Given the description of an element on the screen output the (x, y) to click on. 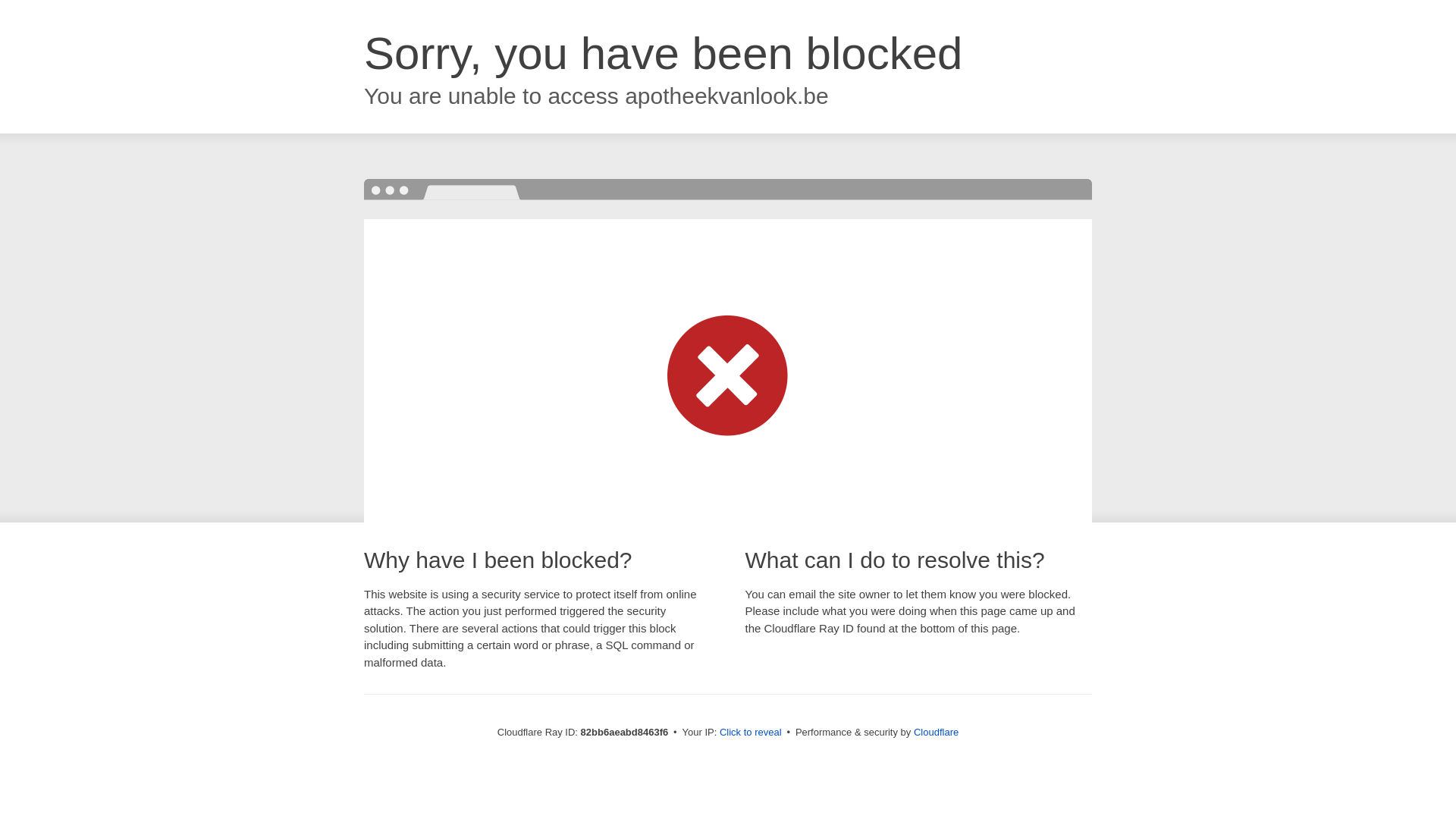
Cloudflare Element type: text (935, 731)
Click to reveal Element type: text (750, 732)
